Given the description of an element on the screen output the (x, y) to click on. 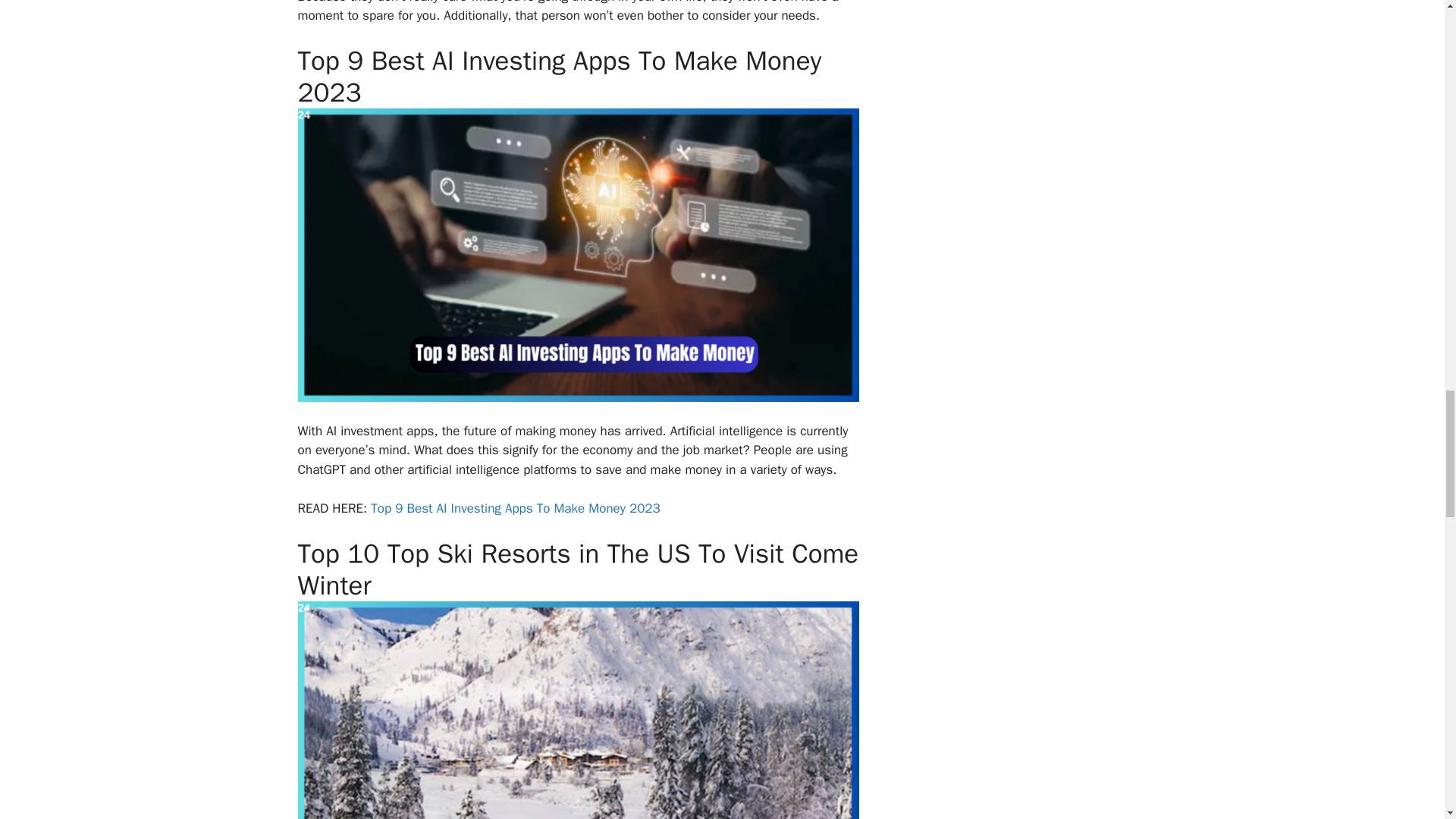
Top 9 Best AI Investing Apps To Make Money 2023 (513, 508)
